Given the description of an element on the screen output the (x, y) to click on. 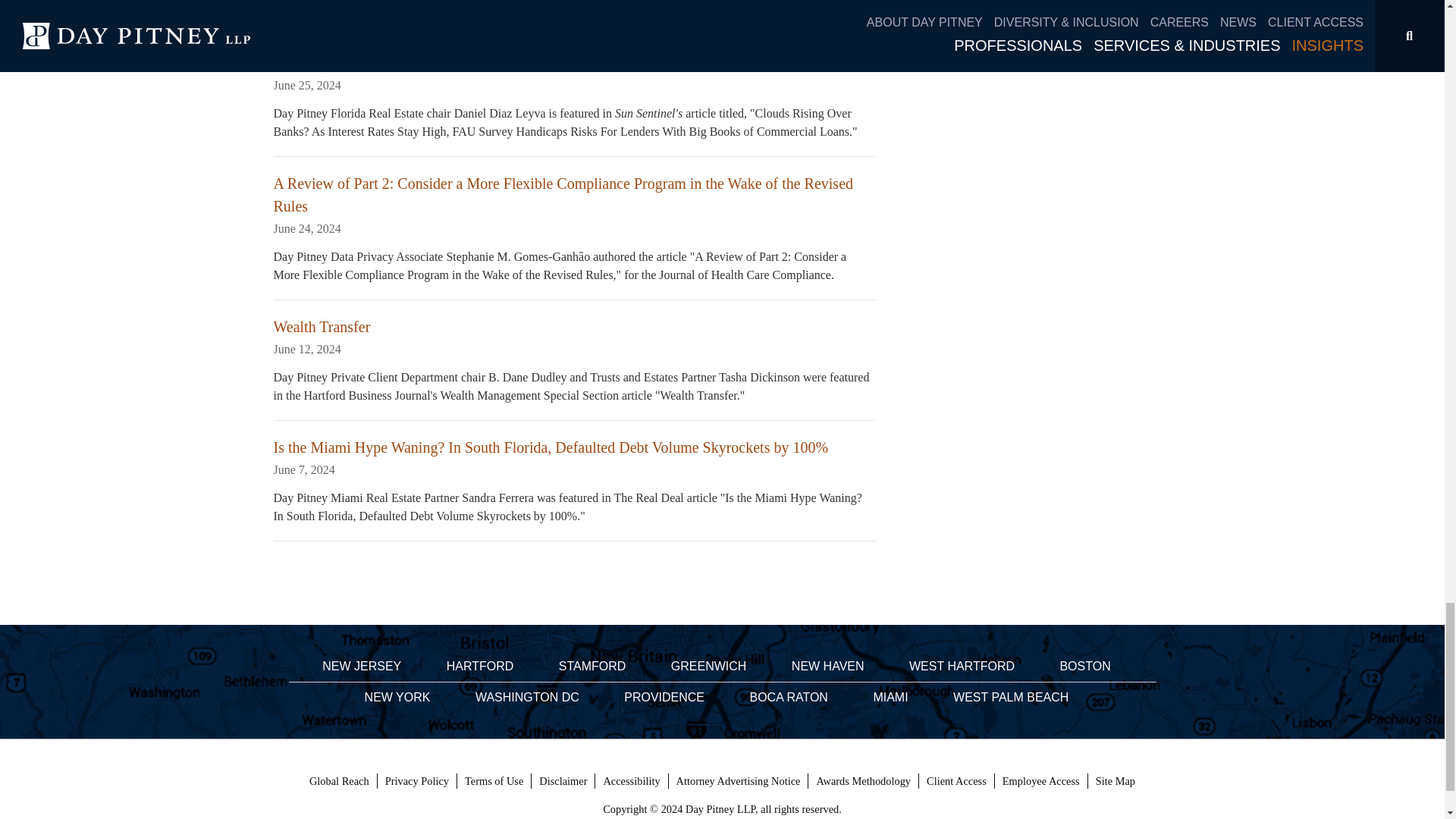
This link opens a new window to an external website (1040, 780)
